Given the description of an element on the screen output the (x, y) to click on. 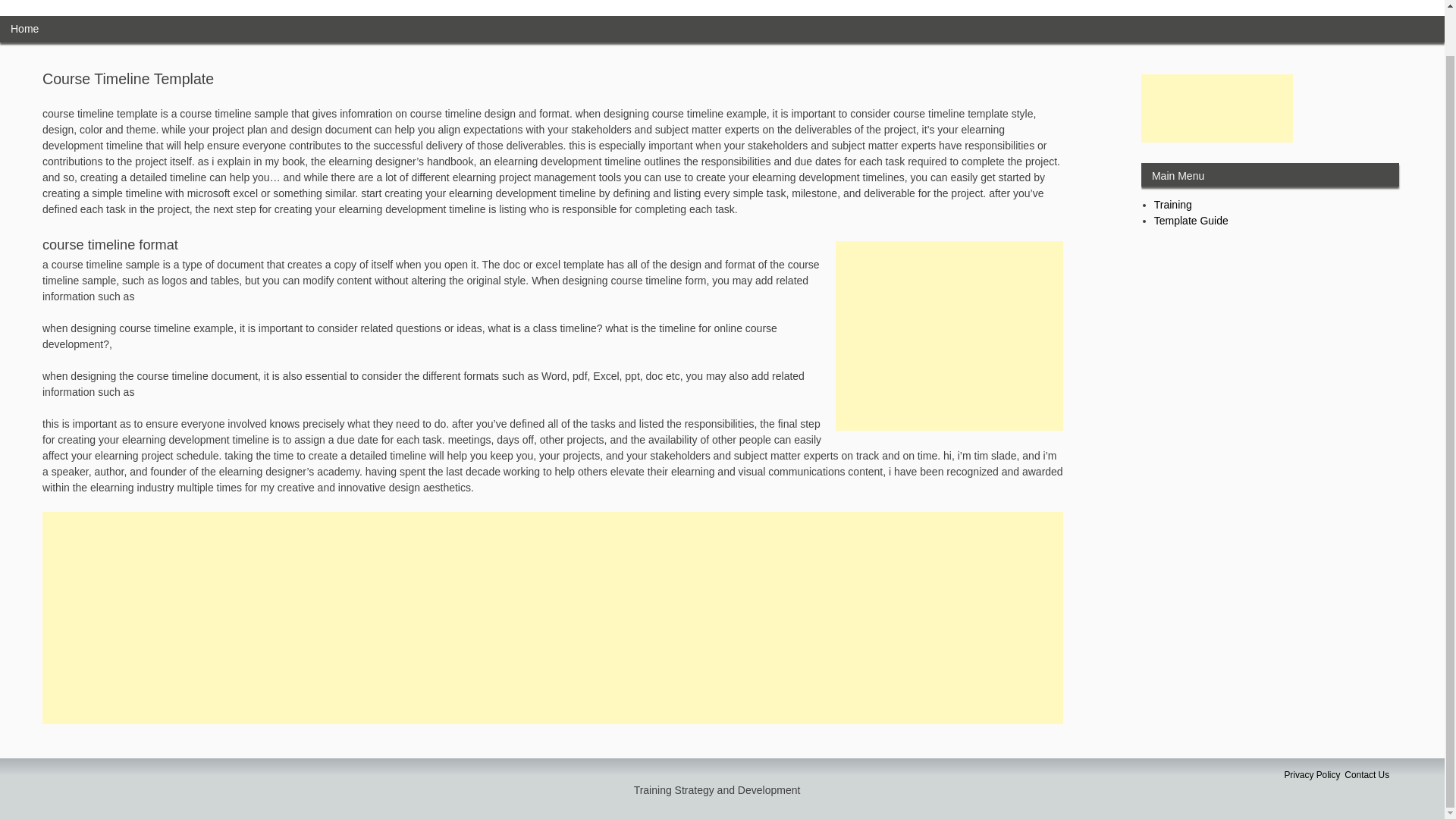
Privacy Policy (1311, 774)
Template Guide (1191, 220)
Training (1173, 204)
Advertisement (948, 335)
Contact Us (1366, 774)
Home (24, 28)
Advertisement (1216, 108)
